Given the description of an element on the screen output the (x, y) to click on. 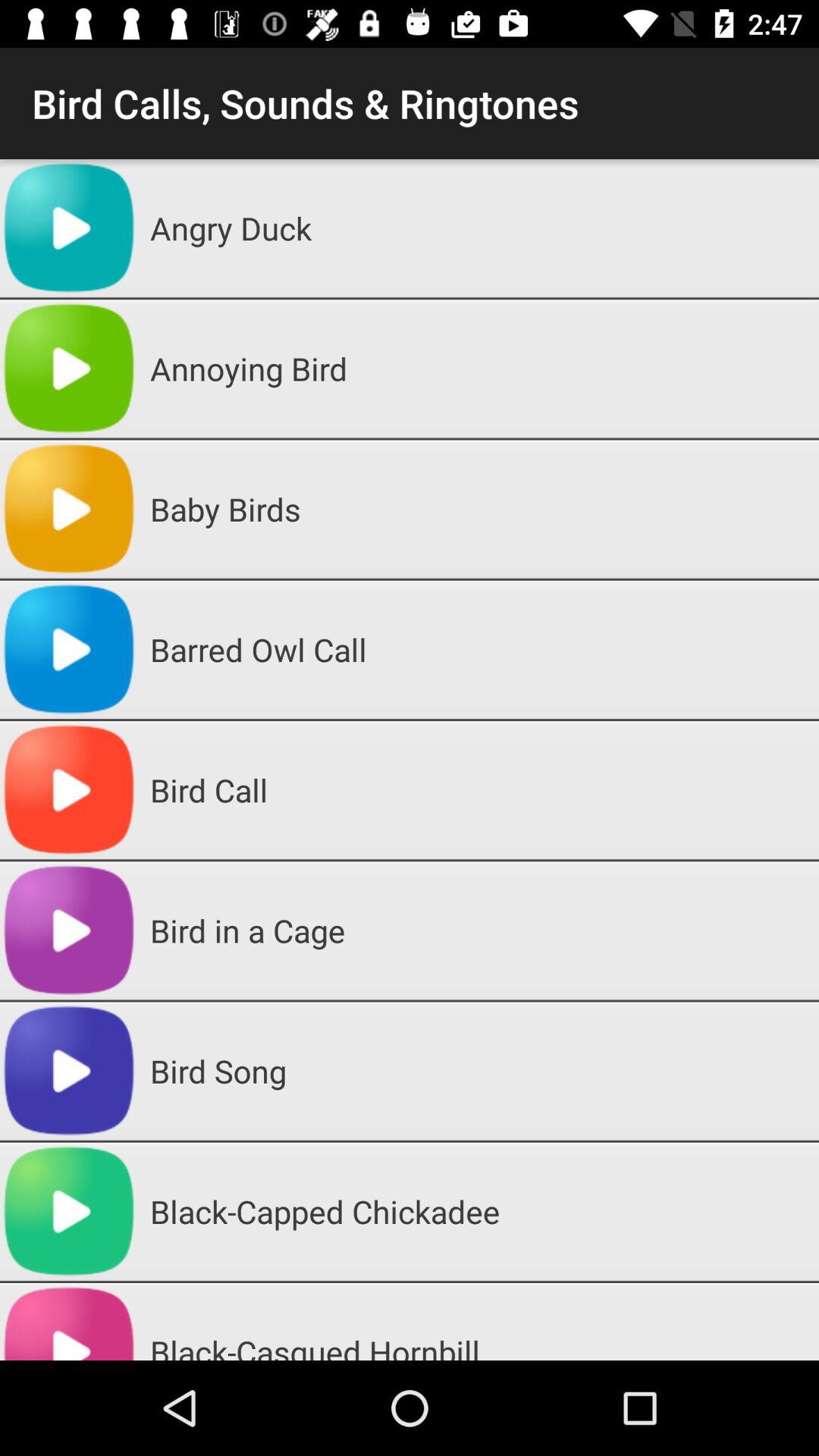
click the baby birds item (478, 509)
